Given the description of an element on the screen output the (x, y) to click on. 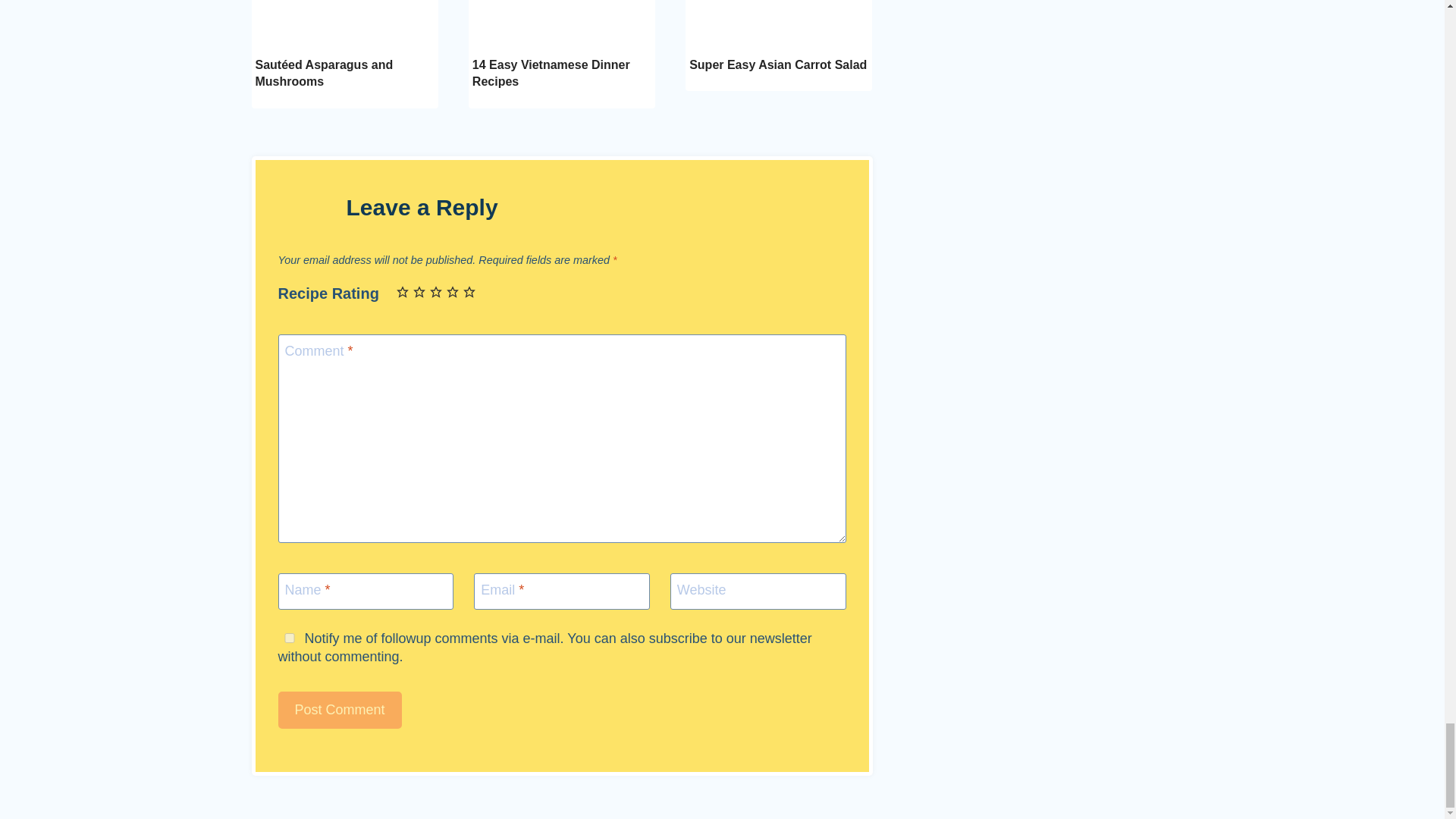
Post Comment (339, 709)
yes (288, 637)
